Given the description of an element on the screen output the (x, y) to click on. 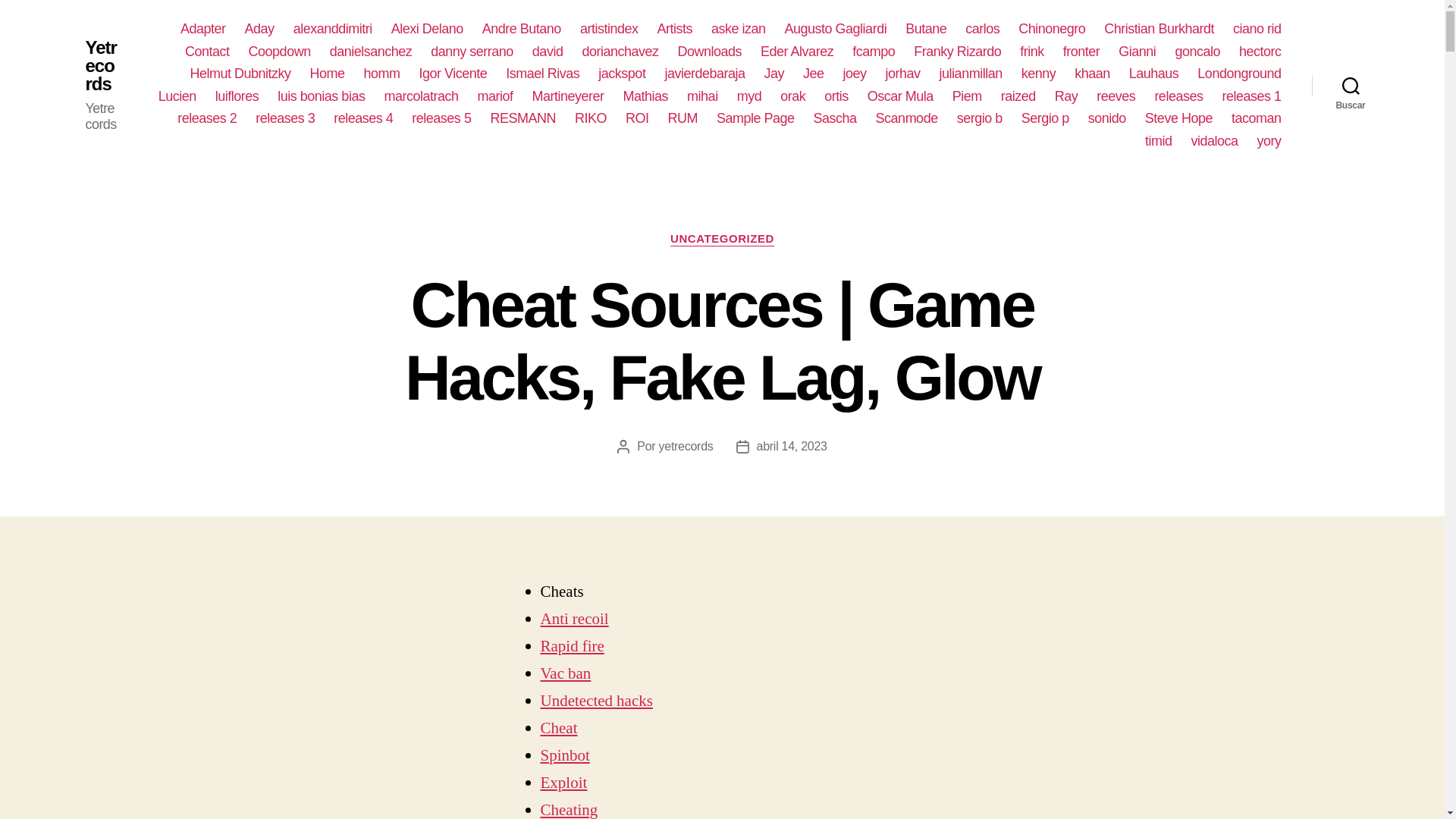
homm (382, 74)
Gianni (1137, 52)
Andre Butano (520, 29)
Franky Rizardo (957, 52)
goncalo (1197, 52)
frink (1031, 52)
Igor Vicente (453, 74)
jackspot (621, 74)
Coopdown (279, 52)
carlos (981, 29)
